Given the description of an element on the screen output the (x, y) to click on. 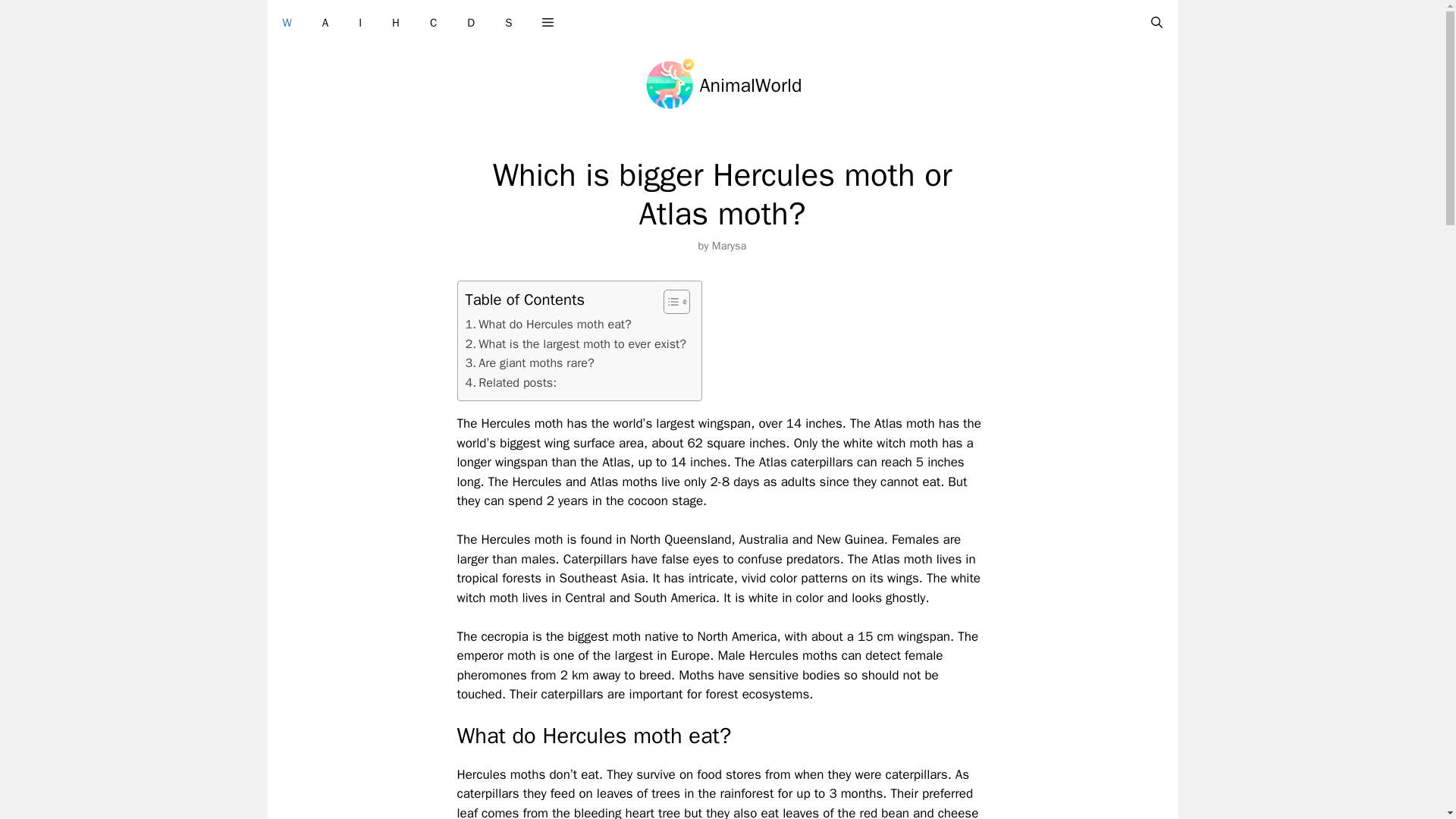
AnimalWorld (751, 85)
What do Hercules moth eat? (548, 324)
What is the largest moth to ever exist? (575, 343)
View all posts by Marysa (728, 245)
Are giant moths rare? (529, 362)
What is the largest moth to ever exist? (575, 343)
Related posts: (511, 383)
Related posts: (511, 383)
What do Hercules moth eat? (548, 324)
Are giant moths rare? (529, 362)
